Given the description of an element on the screen output the (x, y) to click on. 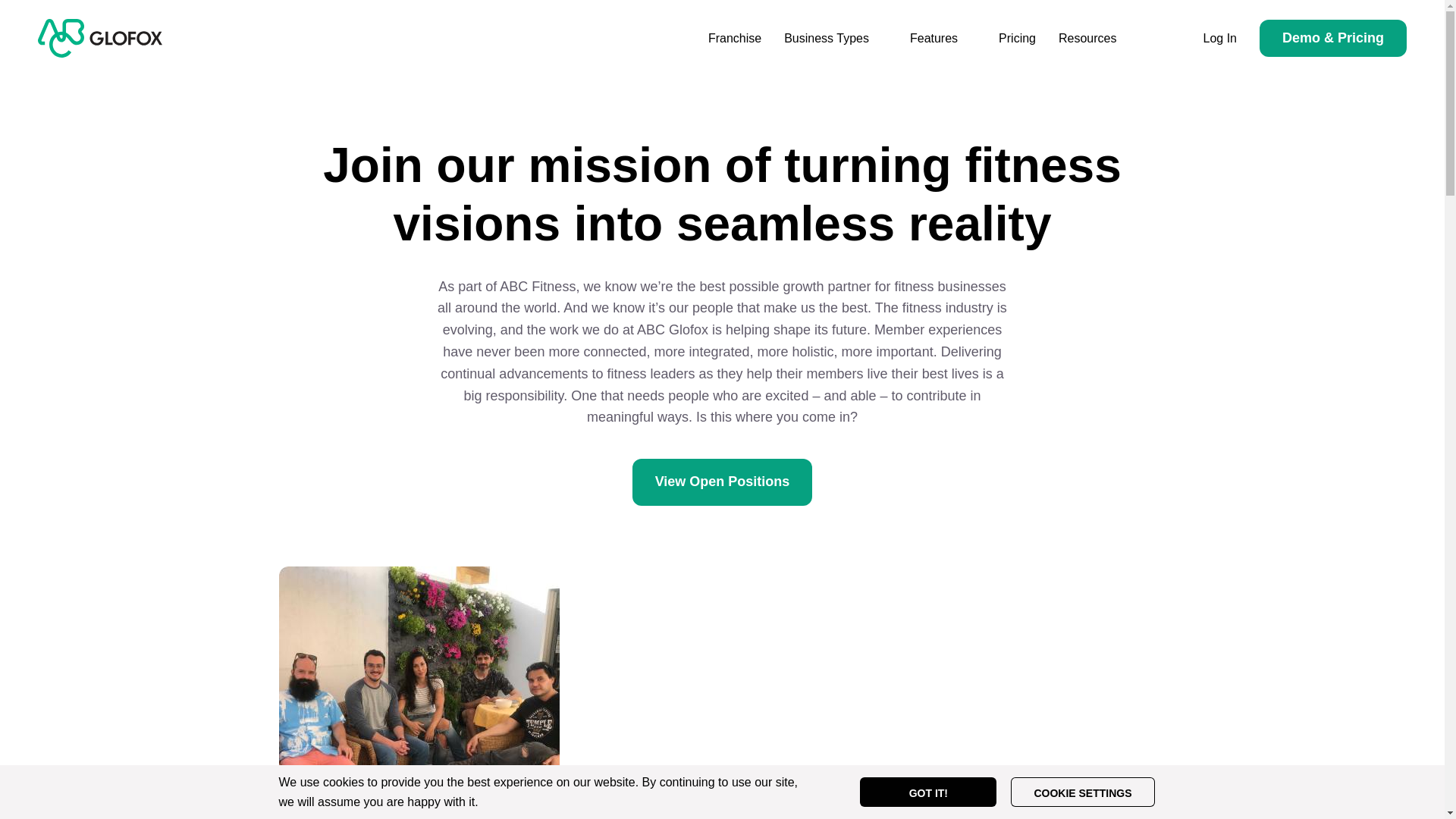
Franchise (735, 37)
Pricing (1016, 37)
View Open Positions (721, 482)
Features (933, 37)
Resources (1086, 37)
Business Types (826, 37)
Log In (1219, 38)
